Given the description of an element on the screen output the (x, y) to click on. 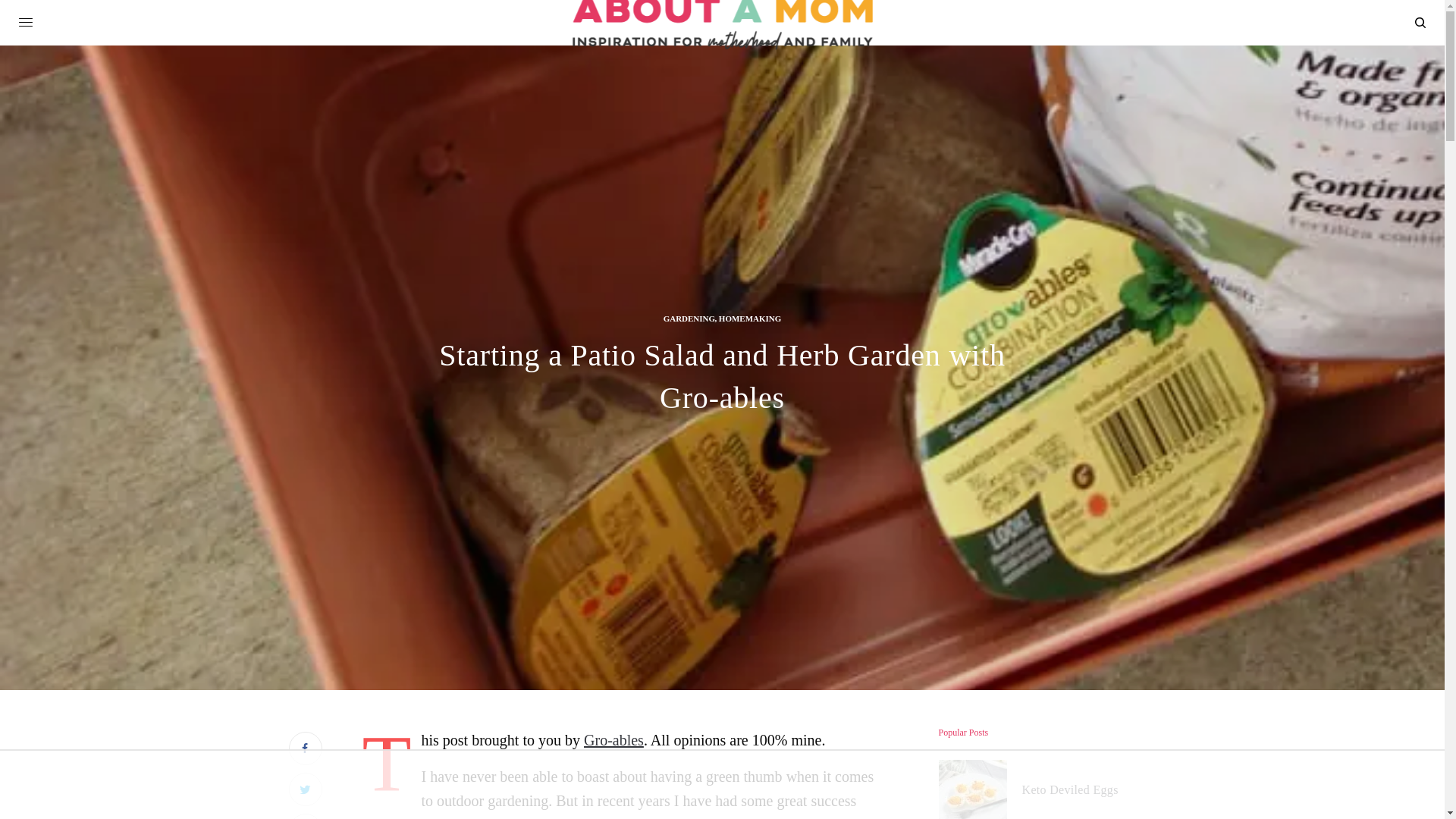
GARDENING (688, 318)
HOMEMAKING (750, 318)
About a Mom (722, 24)
Keto Deviled Eggs (1070, 790)
Gro-ables (613, 740)
